Given the description of an element on the screen output the (x, y) to click on. 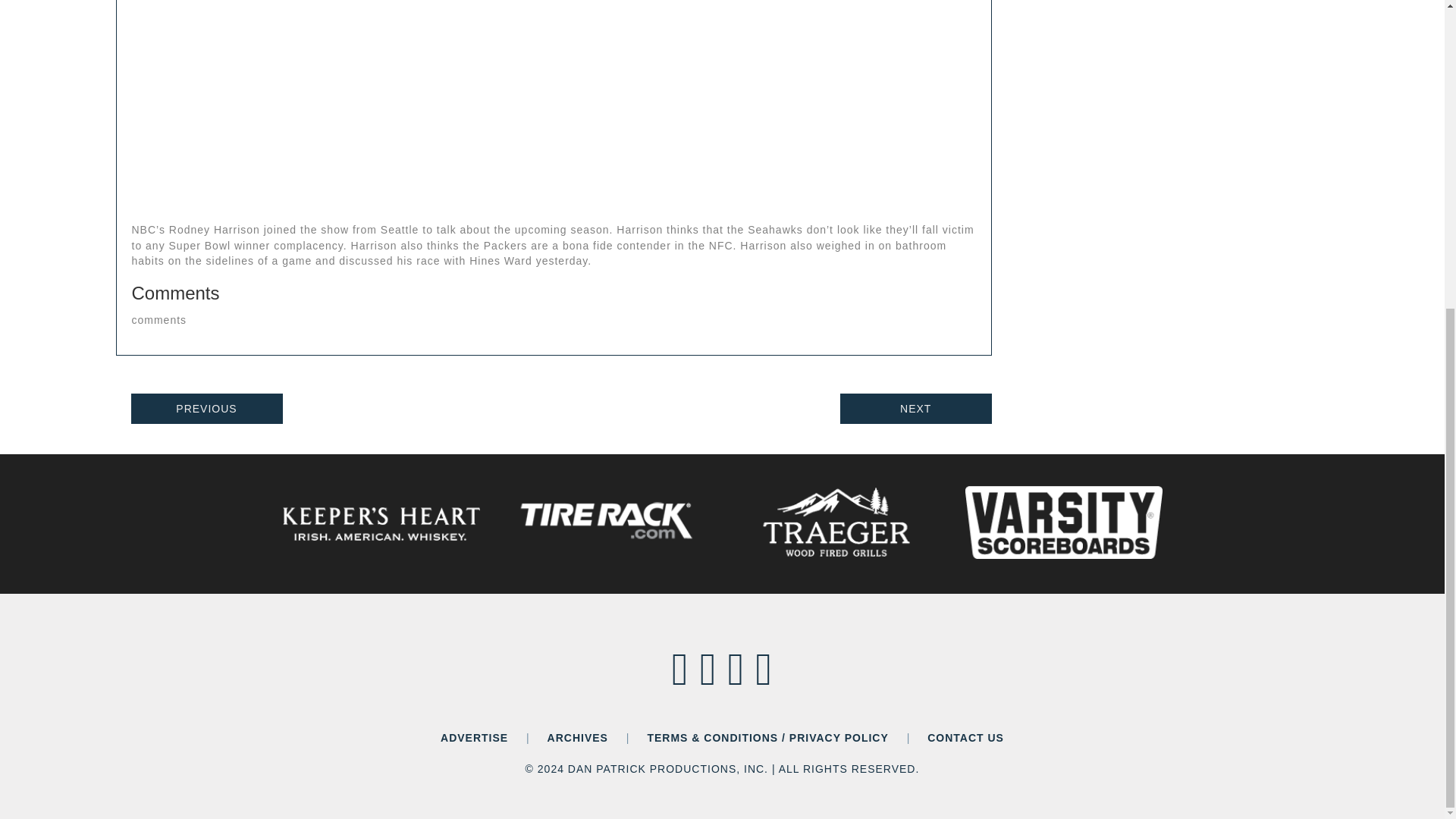
Keepers-heart-Logo-400a (380, 523)
TireRackCom.whitegrey-250 (607, 521)
NEXT (915, 408)
ADVERTISE (474, 737)
Varsity-logo (1062, 521)
PREVIOUS (206, 408)
ARCHIVES (577, 737)
